Given the description of an element on the screen output the (x, y) to click on. 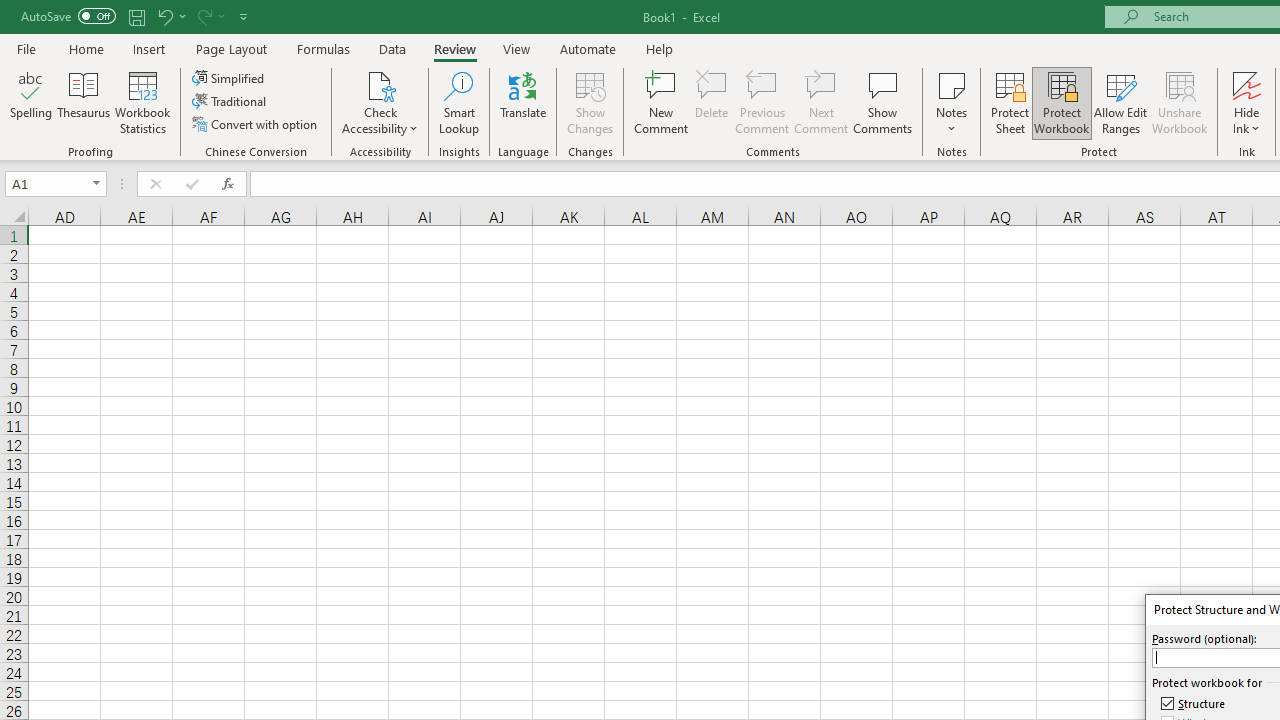
AutoSave (68, 16)
Smart Lookup (459, 102)
Protect Sheet... (1010, 102)
